Given the description of an element on the screen output the (x, y) to click on. 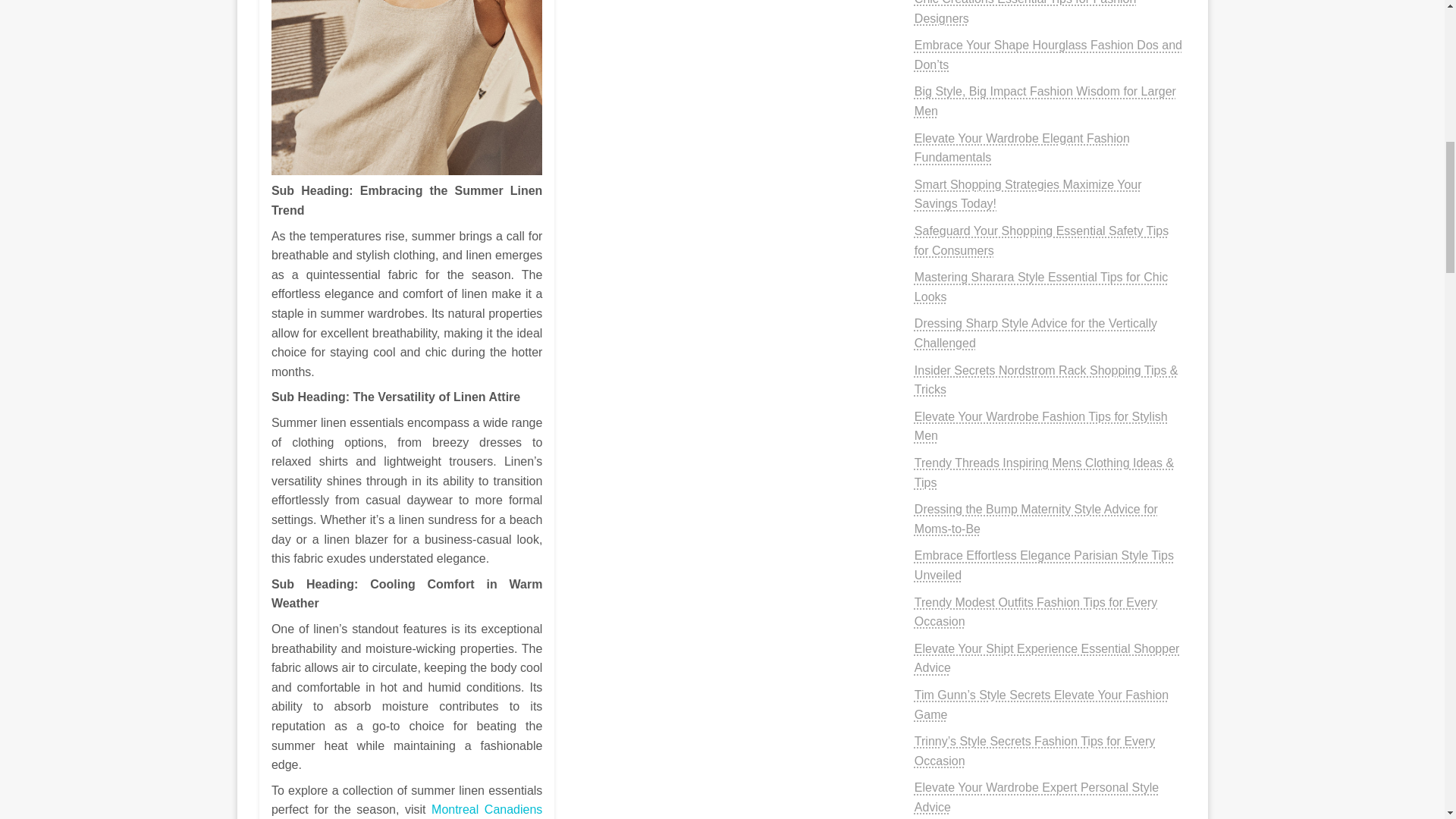
Montreal Canadiens Team Shop (405, 811)
